Given the description of an element on the screen output the (x, y) to click on. 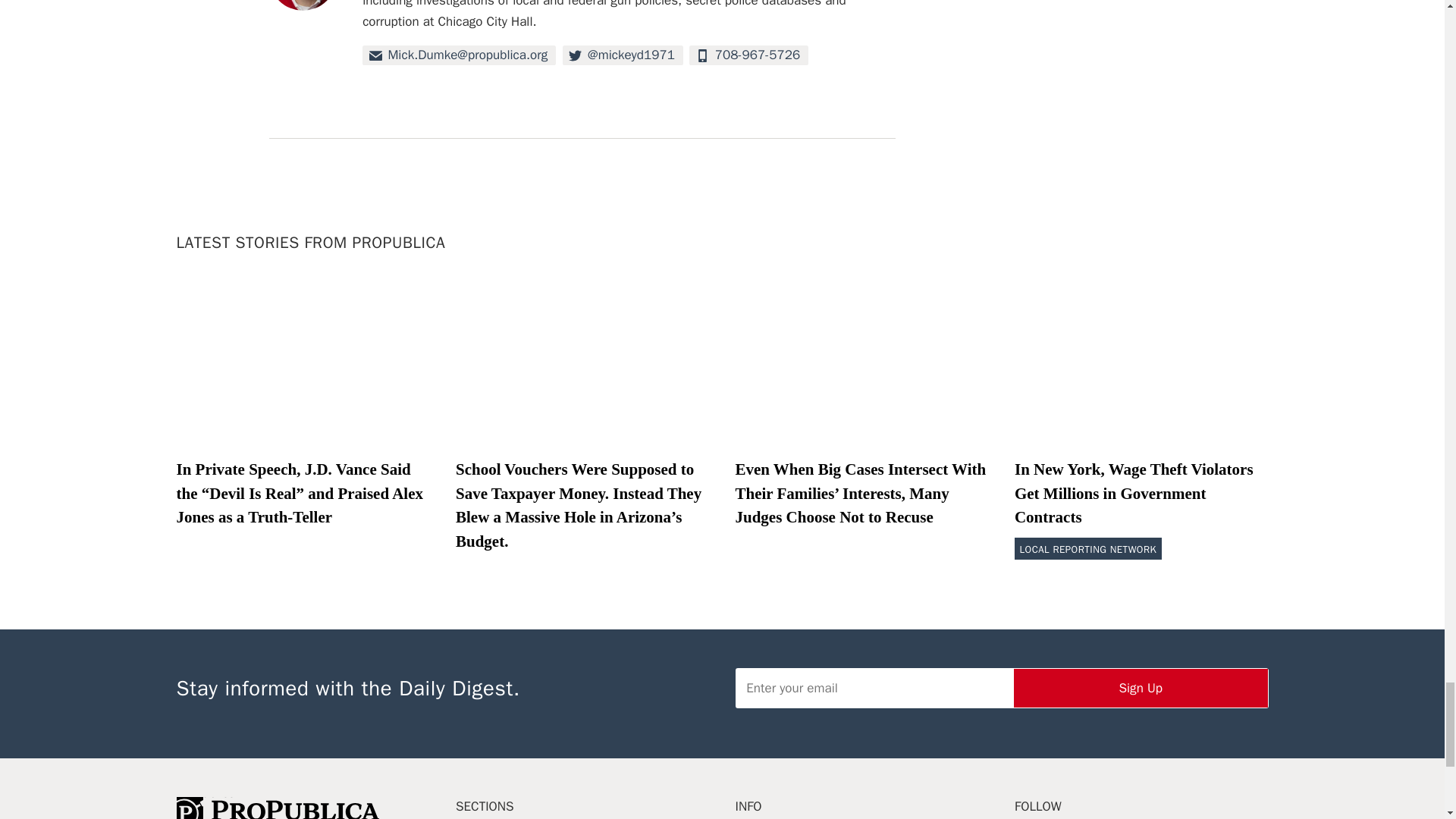
Twitter (622, 55)
Sign Up (1140, 688)
Phone (748, 55)
Email (459, 55)
